Given the description of an element on the screen output the (x, y) to click on. 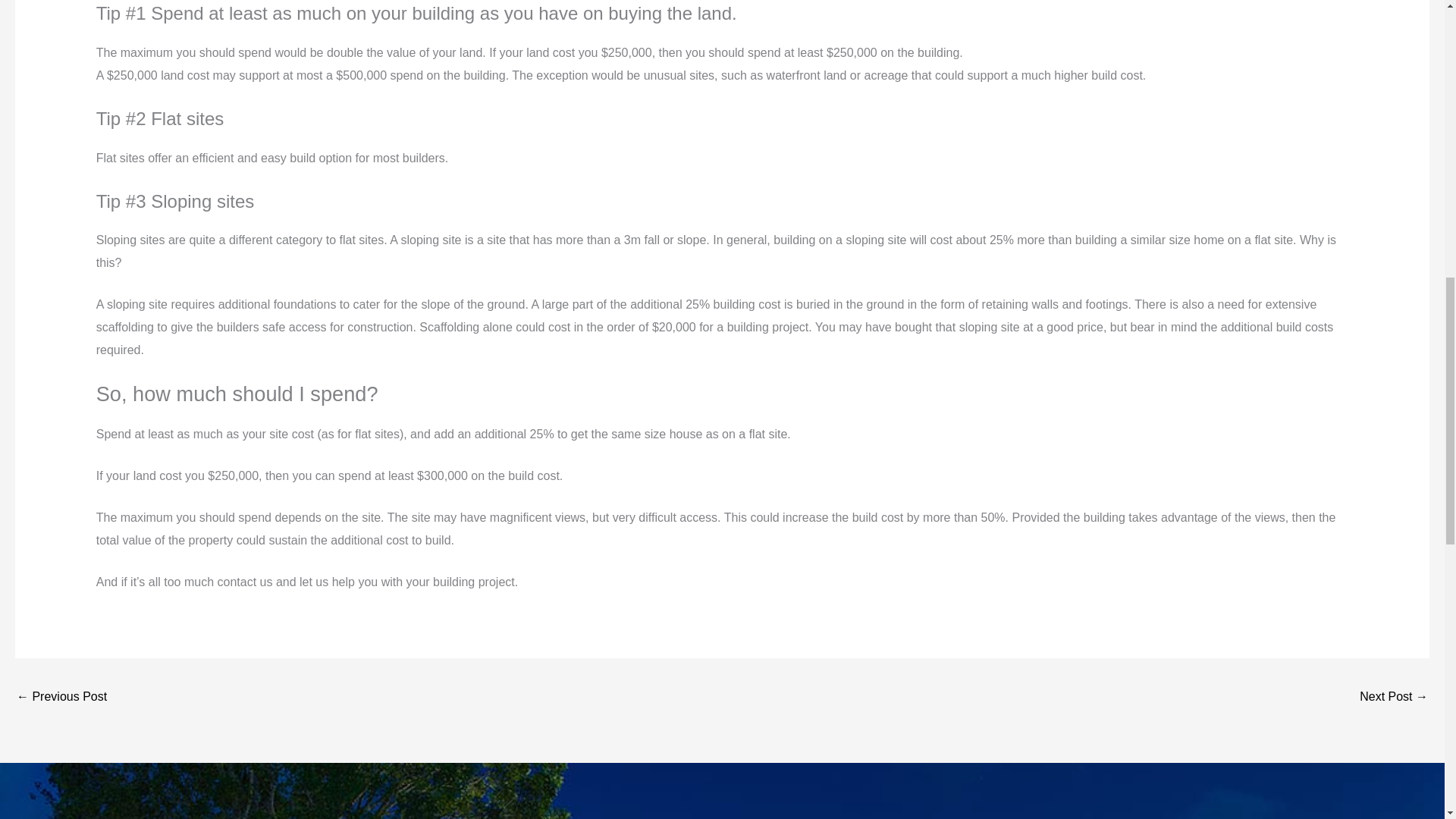
MasterChef and cutting edge design (1393, 697)
Awards (61, 697)
